Given the description of an element on the screen output the (x, y) to click on. 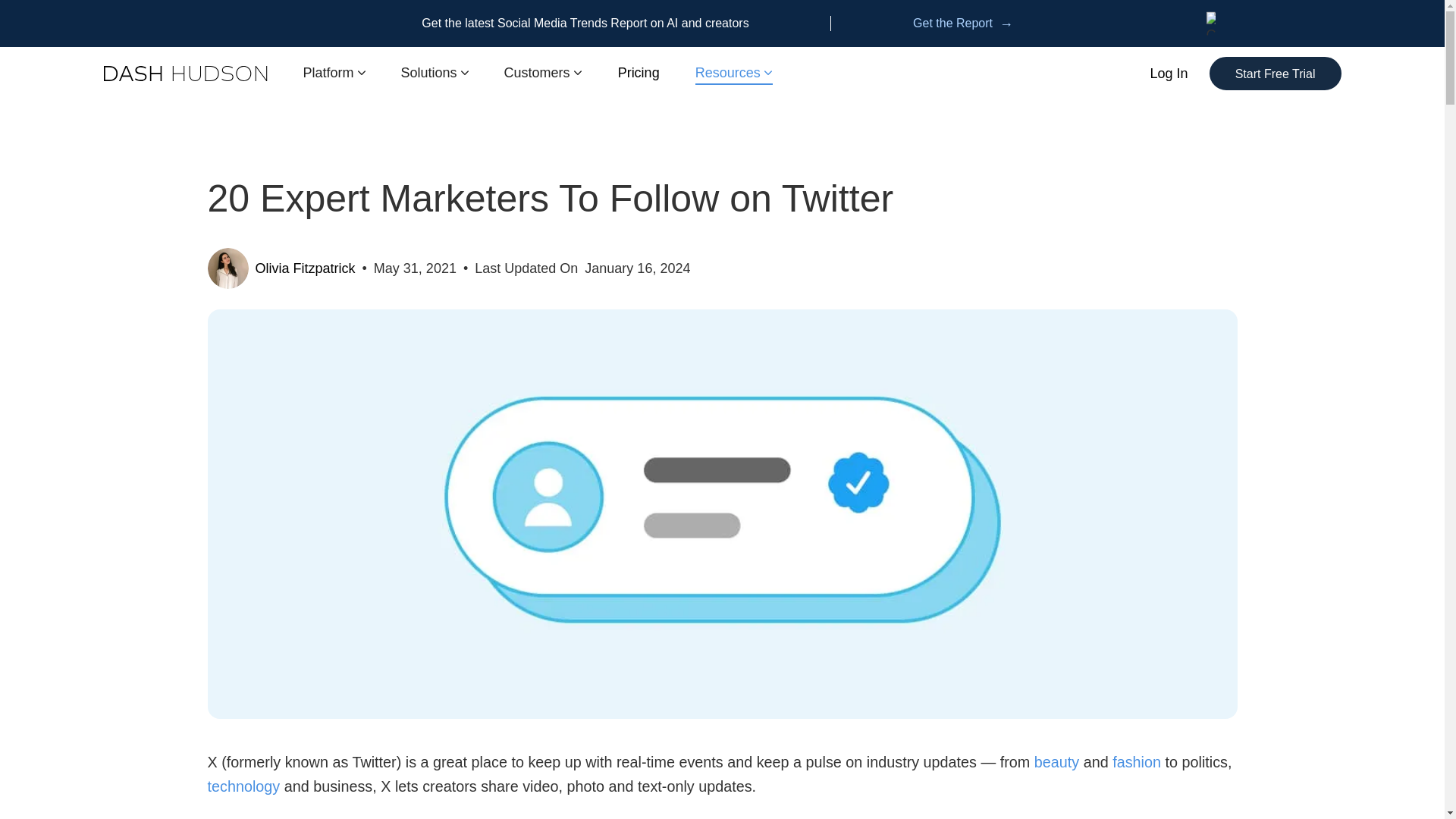
Pricing (638, 73)
